Given the description of an element on the screen output the (x, y) to click on. 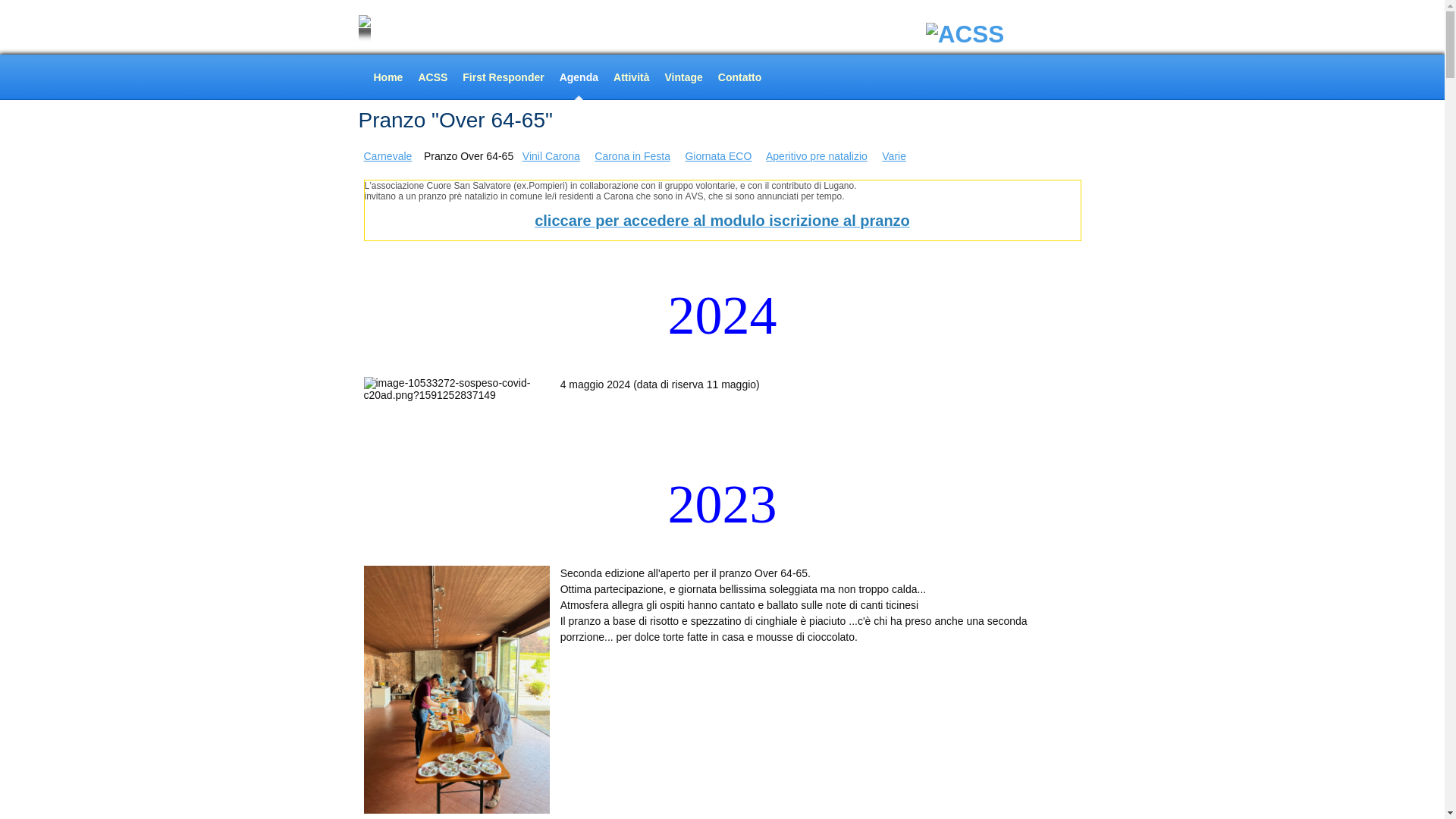
Contatto Element type: text (740, 77)
Home Element type: text (387, 77)
First Responder Element type: text (502, 77)
Aperitivo pre natalizio Element type: text (816, 156)
Carnevale Element type: text (388, 156)
Varie Element type: text (893, 156)
Giornata ECO Element type: text (717, 156)
cliccare per accedere al modulo iscrizione al pranzo Element type: text (722, 222)
Vintage Element type: text (683, 77)
Vinil Carona Element type: text (551, 156)
ACSS Element type: text (432, 77)
Agenda Element type: text (578, 77)
Carona in Festa Element type: text (632, 156)
